Given the description of an element on the screen output the (x, y) to click on. 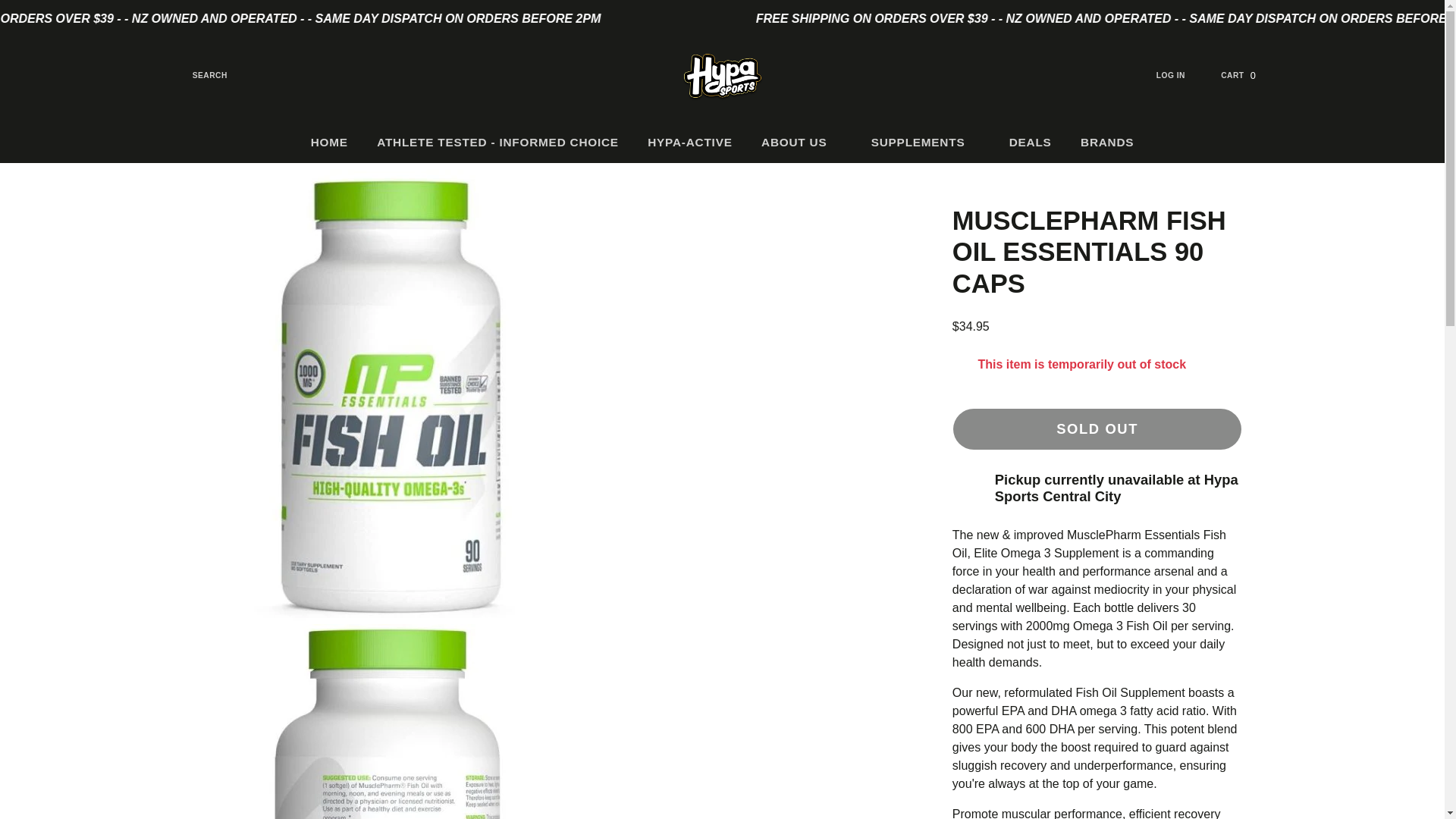
HOME (1246, 74)
ATHLETE TESTED - INFORMED CHOICE (328, 141)
SEARCH (497, 141)
ABOUT US (199, 74)
SUPPLEMENTS (801, 141)
HYPA-ACTIVE (925, 141)
LOG IN (689, 141)
